Given the description of an element on the screen output the (x, y) to click on. 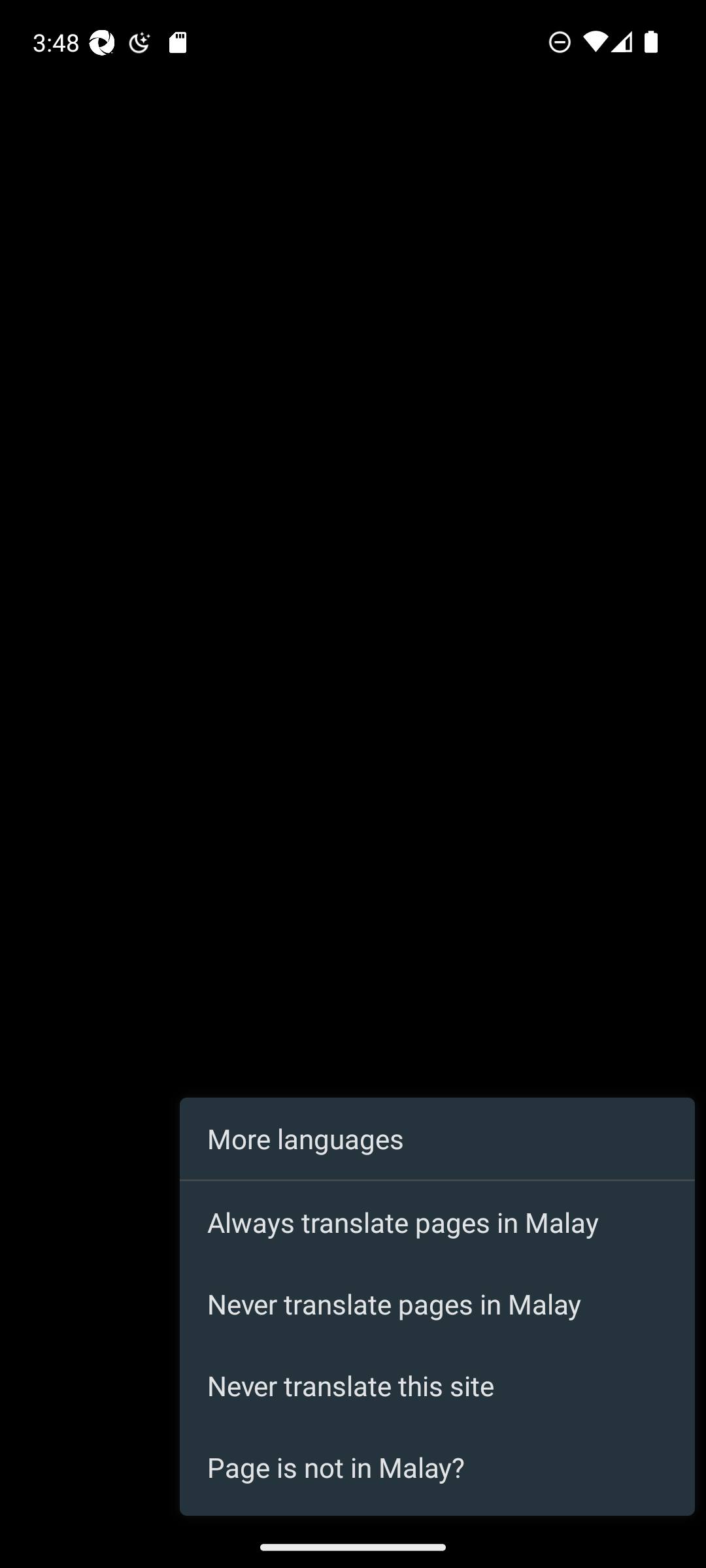
More languages (437, 1138)
Always translate pages in Malay (437, 1221)
Never translate pages in Malay (437, 1303)
Never translate this site (437, 1385)
Page is not in Malay? (437, 1467)
